Given the description of an element on the screen output the (x, y) to click on. 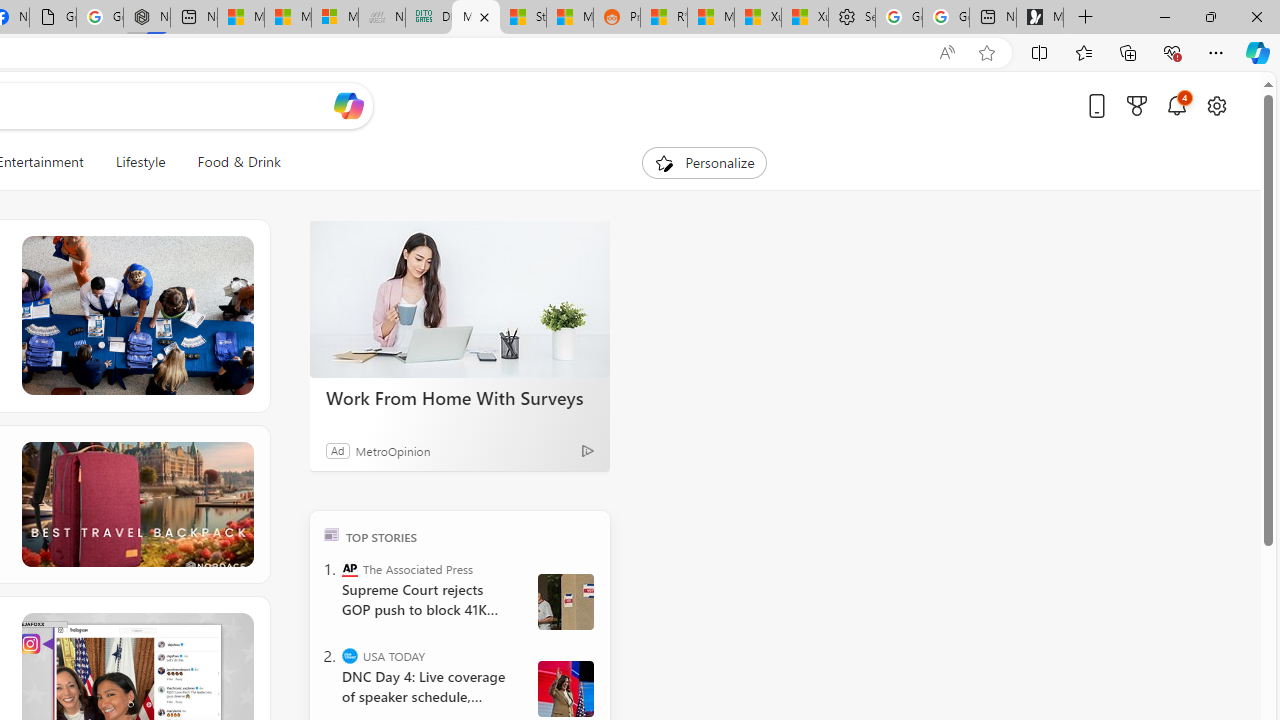
Google Analytics Opt-out Browser Add-on Download Page (52, 17)
TOP (331, 534)
